Given the description of an element on the screen output the (x, y) to click on. 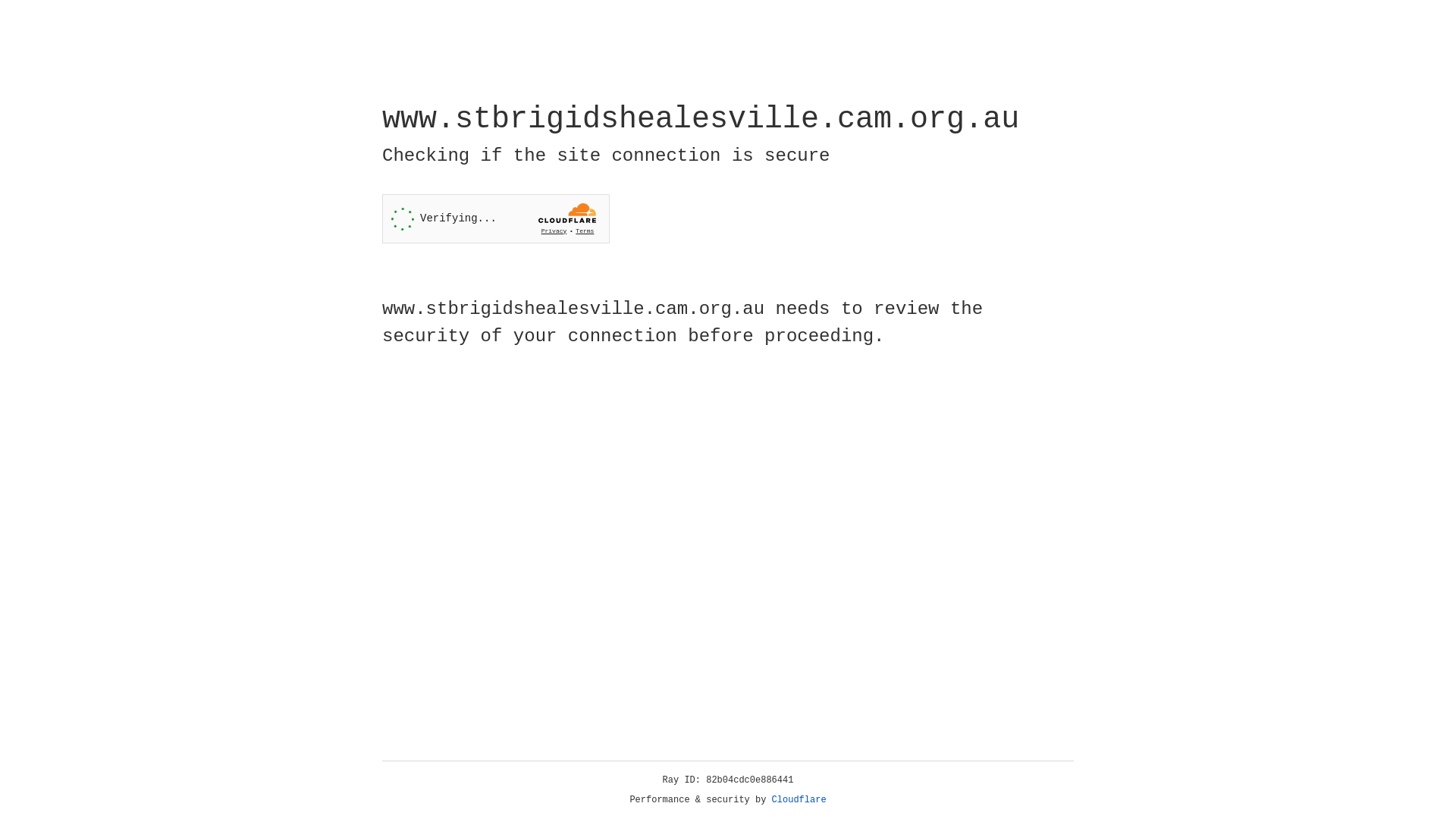
Cloudflare Element type: text (798, 799)
Widget containing a Cloudflare security challenge Element type: hover (495, 218)
